Given the description of an element on the screen output the (x, y) to click on. 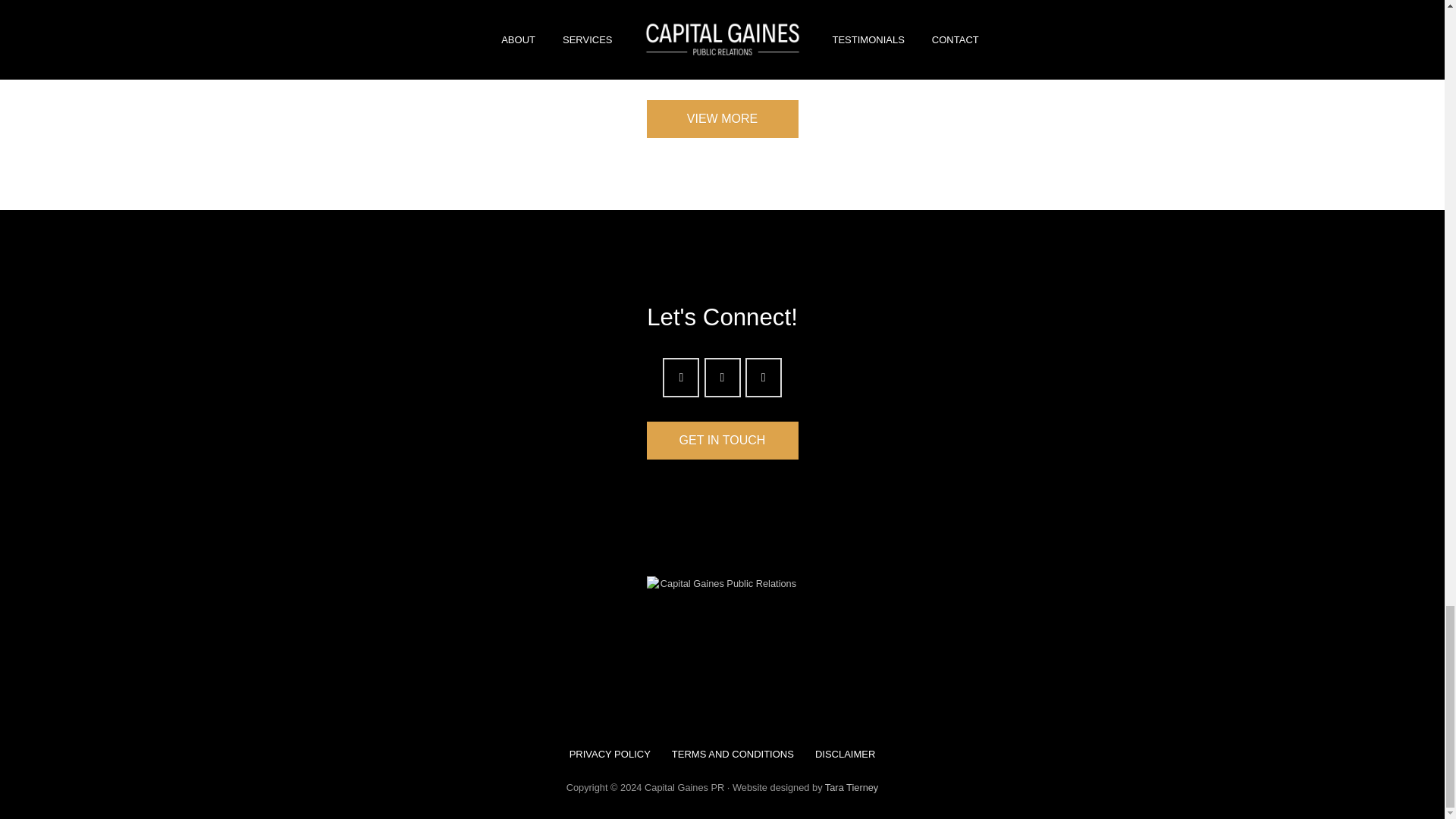
GET IN TOUCH (721, 440)
PRIVACY POLICY (610, 753)
Capital Gaines PR on Facebook (721, 377)
Capital Gaines PR on Instagram (680, 377)
VIEW MORE (721, 118)
Capital Gaines PR on Linkedin (763, 377)
